Given the description of an element on the screen output the (x, y) to click on. 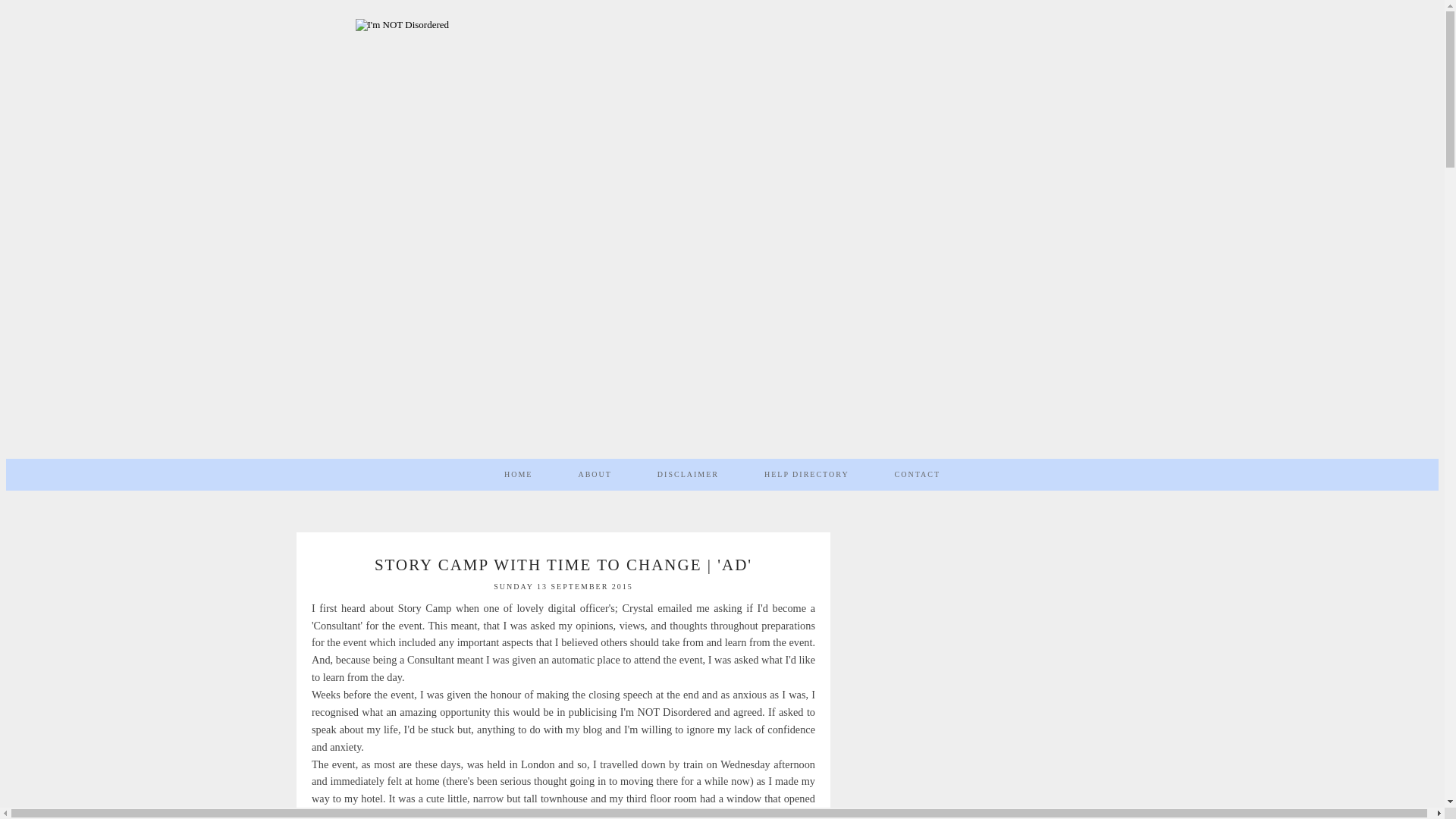
DISCLAIMER (687, 474)
ABOUT (593, 474)
HOME (517, 474)
HELP DIRECTORY (806, 474)
Free Word Centre (582, 814)
CONTACT (917, 474)
